Given the description of an element on the screen output the (x, y) to click on. 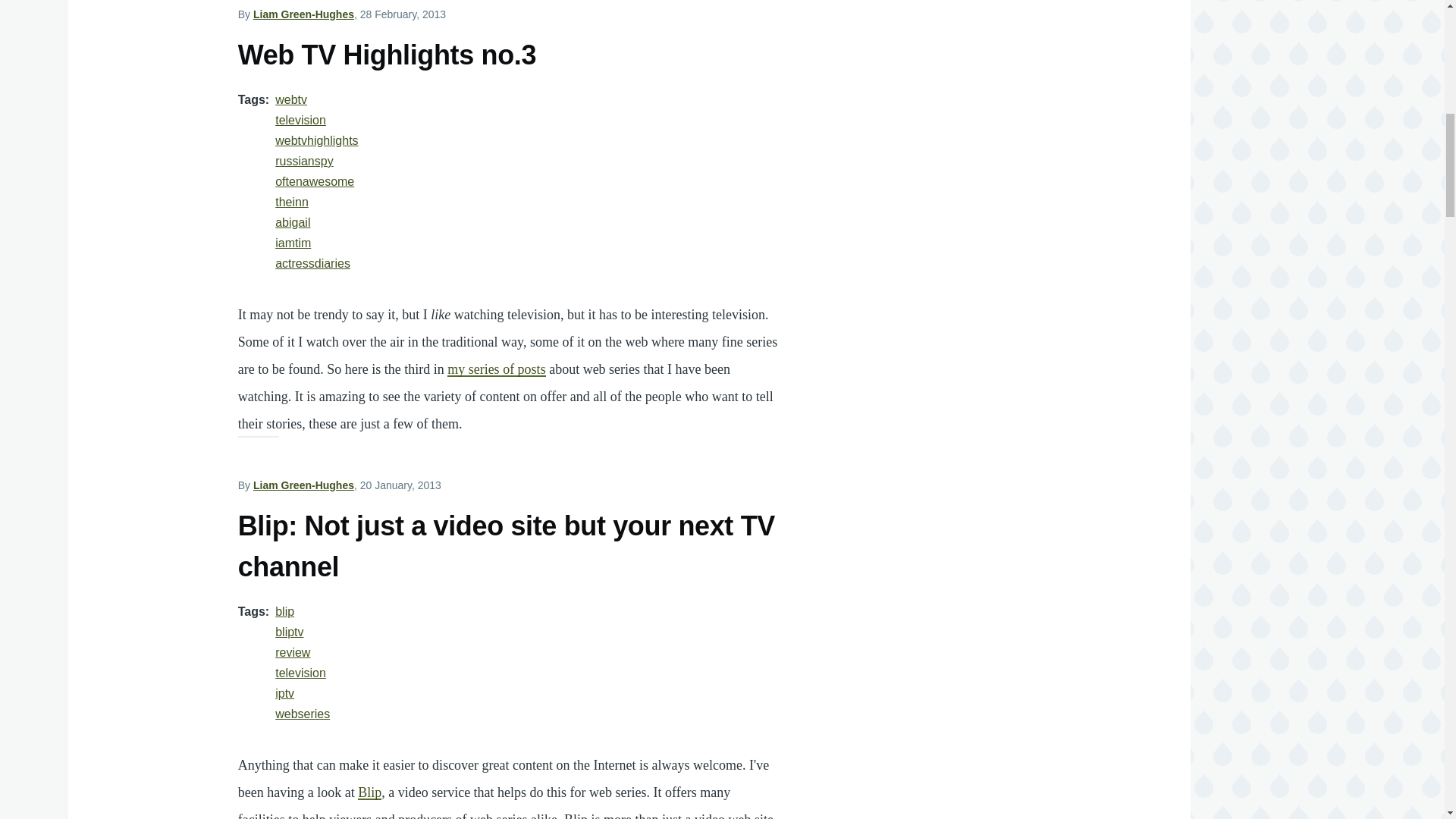
iamtim (293, 242)
oftenawesome (314, 181)
Liam Green-Hughes (303, 14)
Web TV Highlights no.3 (386, 55)
View user profile. (303, 14)
abigail (292, 222)
russianspy (304, 160)
webtv (291, 99)
Blip: Not just a video site but your next TV channel (506, 547)
actressdiaries (312, 263)
